Given the description of an element on the screen output the (x, y) to click on. 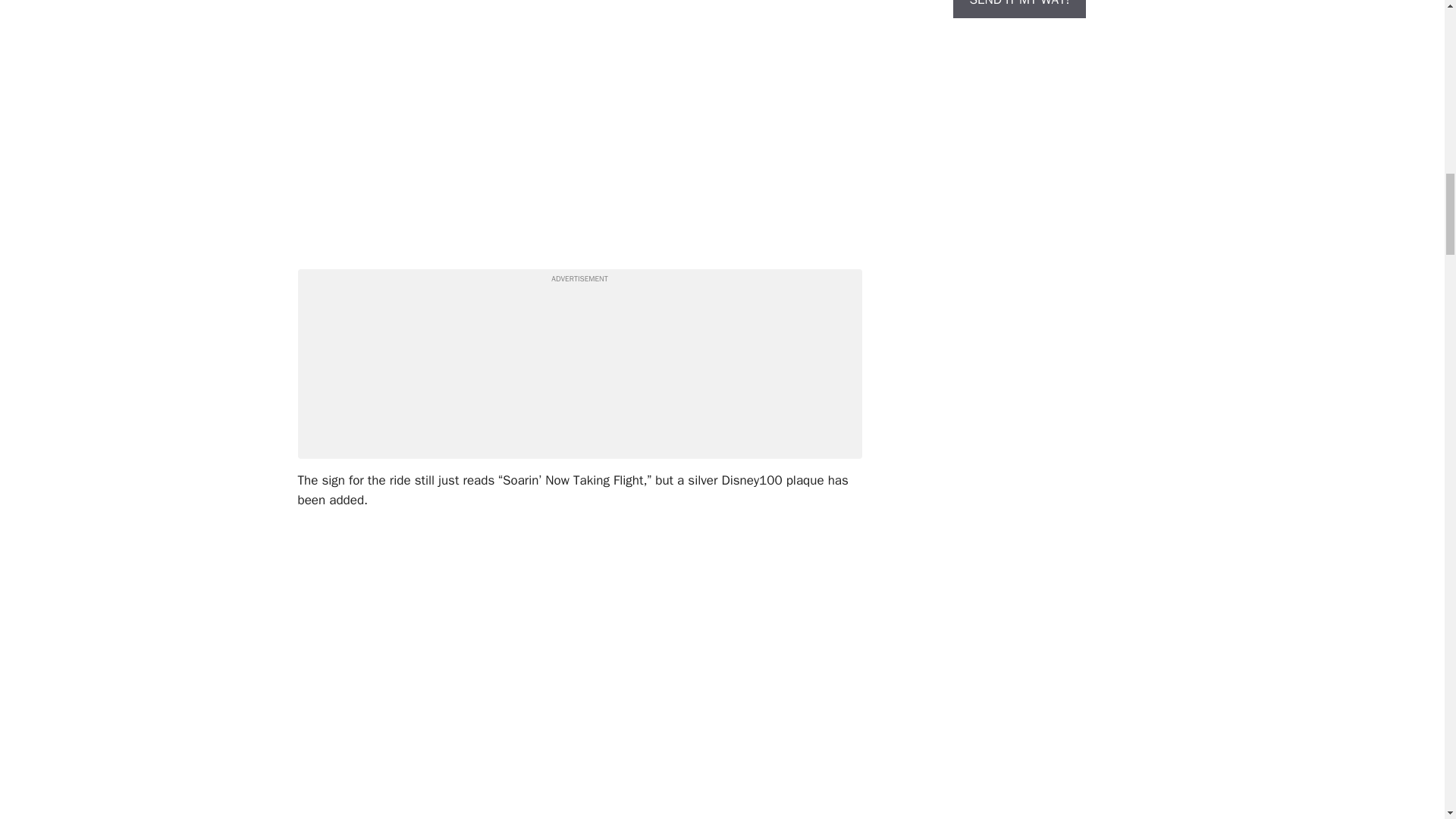
SEND IT MY WAY! (1018, 9)
